Given the description of an element on the screen output the (x, y) to click on. 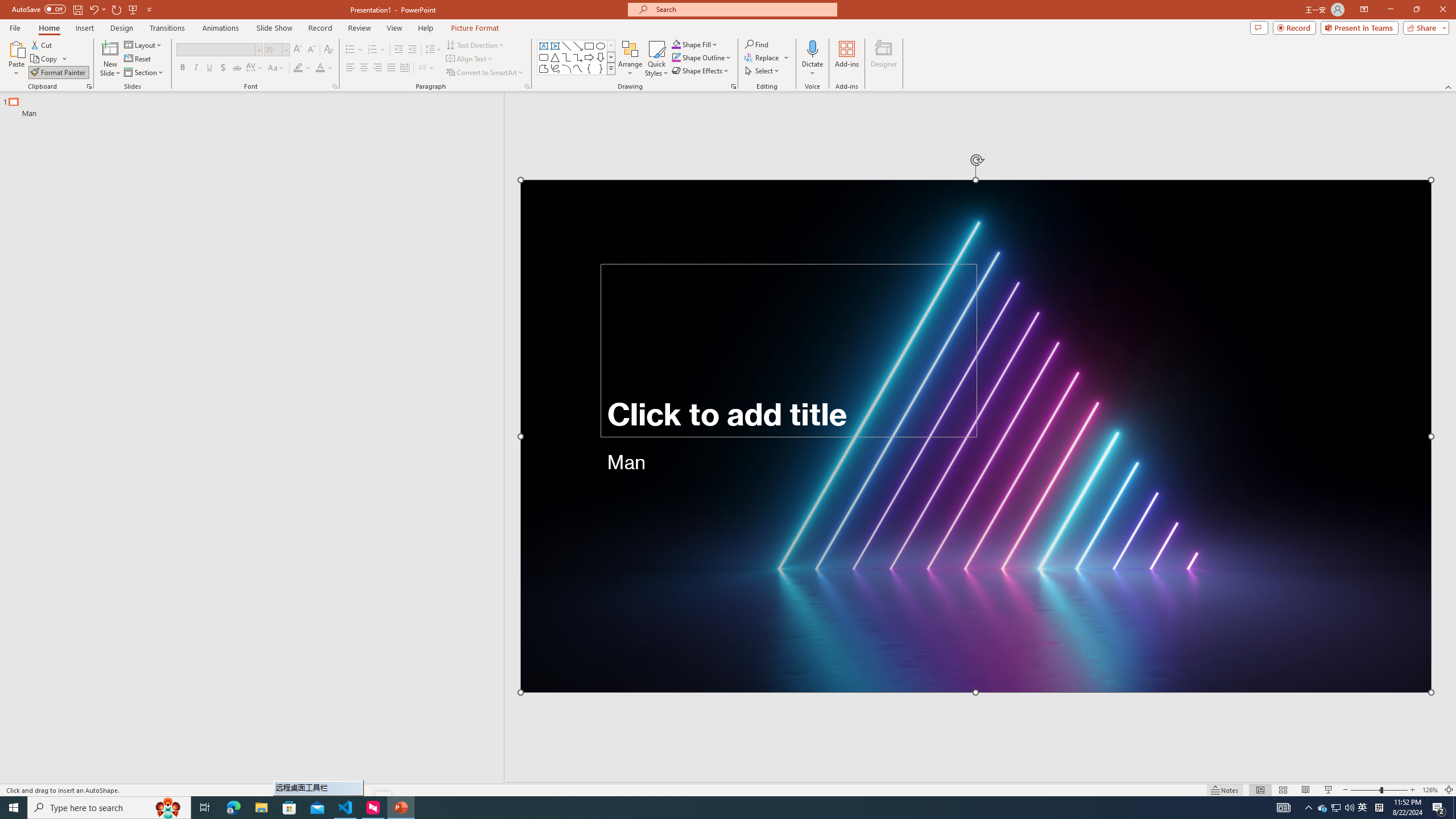
Shadow (223, 67)
Dictate (812, 48)
Paste (16, 48)
Numbering (372, 49)
Justify (390, 67)
Font Size (276, 49)
Select (762, 69)
Shapes (611, 68)
Open (285, 49)
Oval (600, 45)
Increase Font Size (297, 49)
